Given the description of an element on the screen output the (x, y) to click on. 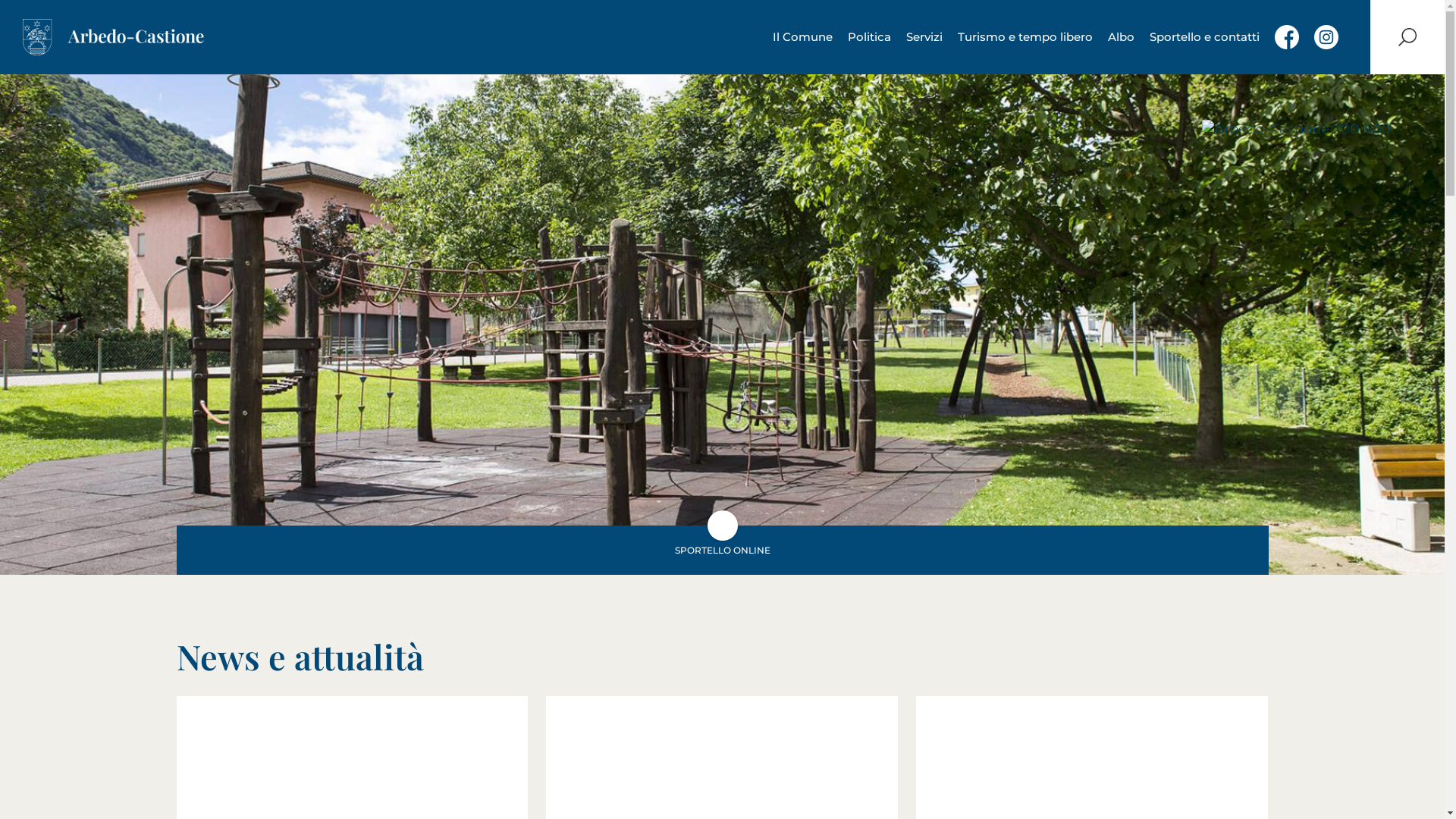
Sportello e contatti Element type: text (1204, 36)
Vai alla home Element type: hover (113, 36)
Il Comune Element type: text (802, 36)
Servizi Element type: text (924, 36)
Politica Element type: text (869, 36)
Turismo e tempo libero Element type: text (1025, 36)
 SPORTELLO ONLINE Element type: text (721, 549)
Albo Element type: text (1121, 36)
